Given the description of an element on the screen output the (x, y) to click on. 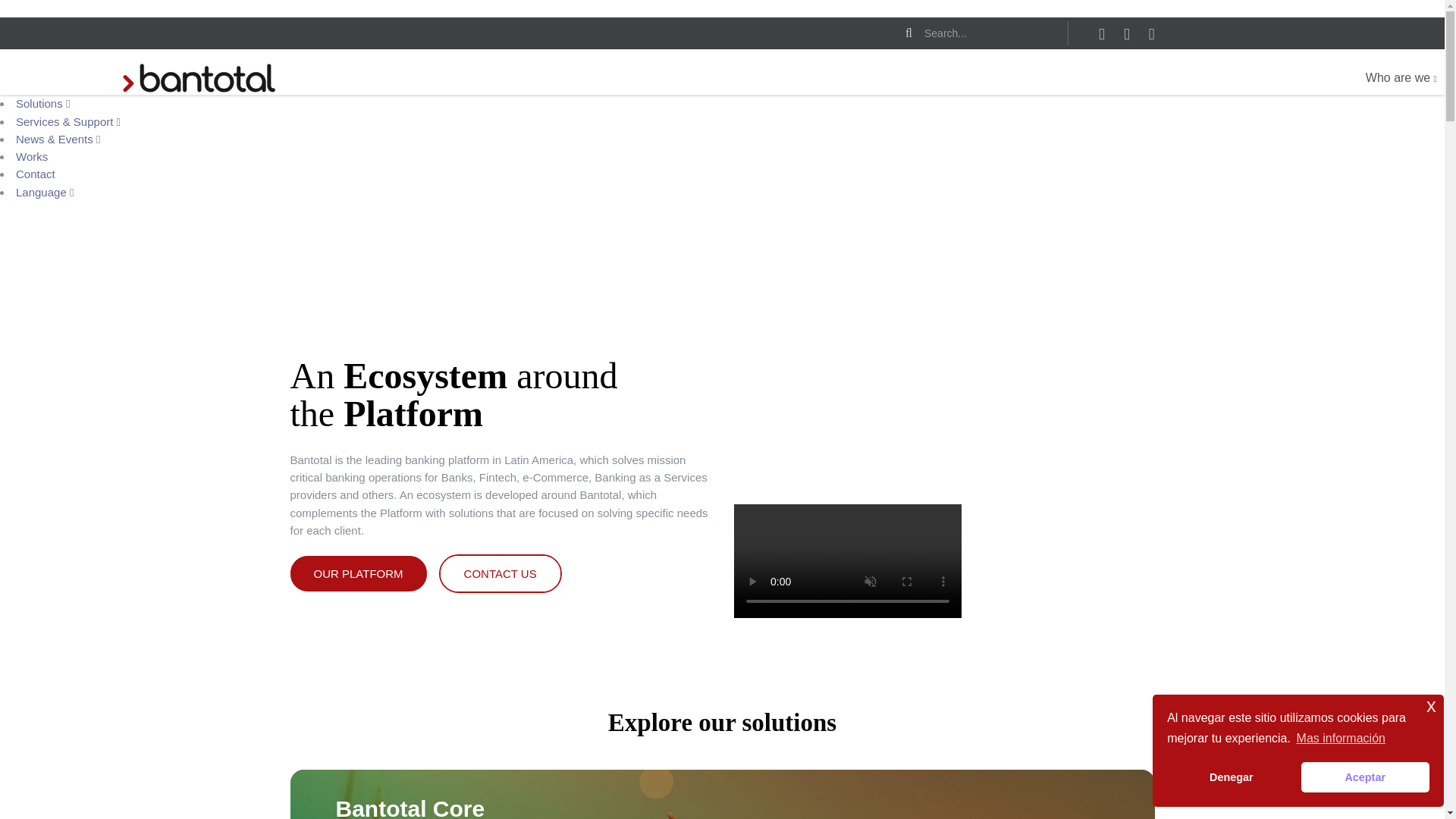
Works (32, 155)
Who are we (1401, 78)
Contact (35, 173)
Language (45, 191)
Solutions (42, 103)
